Given the description of an element on the screen output the (x, y) to click on. 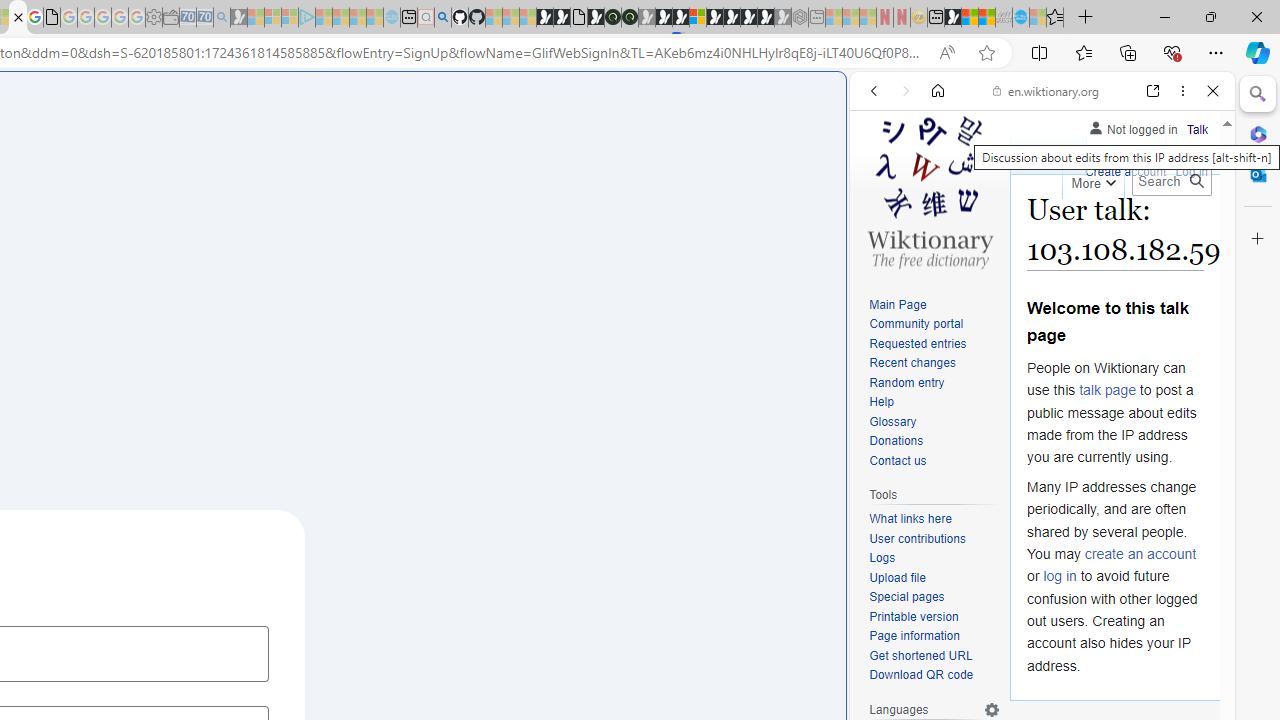
Discussion (1125, 154)
Talk (1197, 126)
Printable version (934, 616)
Main Page (934, 305)
Visit the main page (929, 190)
Search Wiktionary (1171, 181)
Future Focus Report 2024 (629, 17)
Contact us (897, 460)
